Given the description of an element on the screen output the (x, y) to click on. 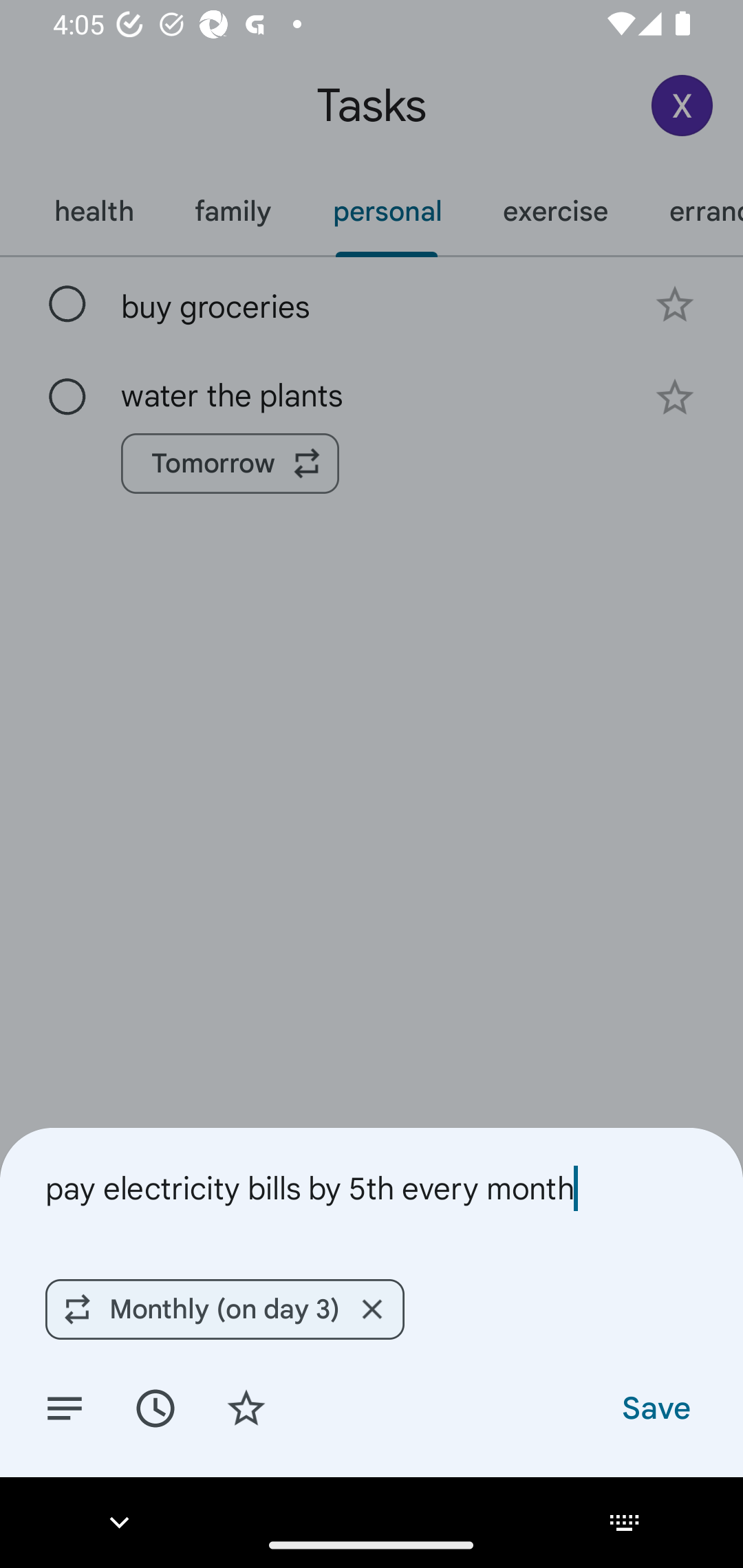
pay electricity bills by 5th every month (371, 1188)
Monthly (on day 3) Remove Monthly (on day 3) (224, 1308)
Save (655, 1407)
Add details (64, 1407)
Set date/time (154, 1407)
Add star (245, 1407)
